Given the description of an element on the screen output the (x, y) to click on. 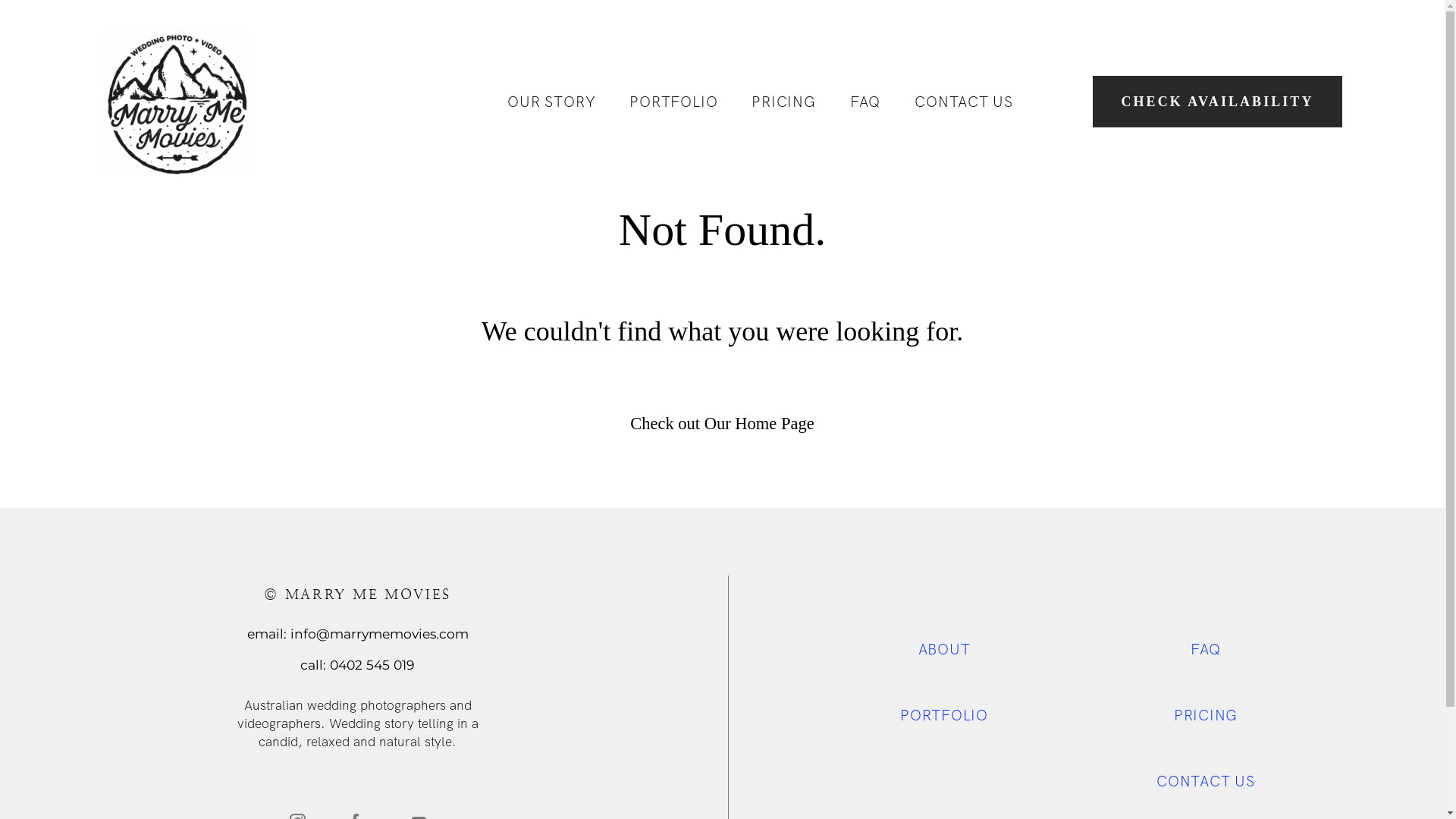
FAQ Element type: text (865, 101)
OUR STORY Element type: text (551, 101)
Check out Our Home Page Element type: text (721, 423)
PRICING Element type: text (1205, 714)
CONTACT US Element type: text (1205, 780)
PRICING Element type: text (783, 101)
FAQ Element type: text (1205, 648)
PORTFOLIO Element type: text (944, 714)
CONTACT US Element type: text (963, 101)
A Element type: text (923, 648)
CHECK AVAILABILITY Element type: text (1217, 101)
PORTFOLIO Element type: text (673, 101)
